Given the description of an element on the screen output the (x, y) to click on. 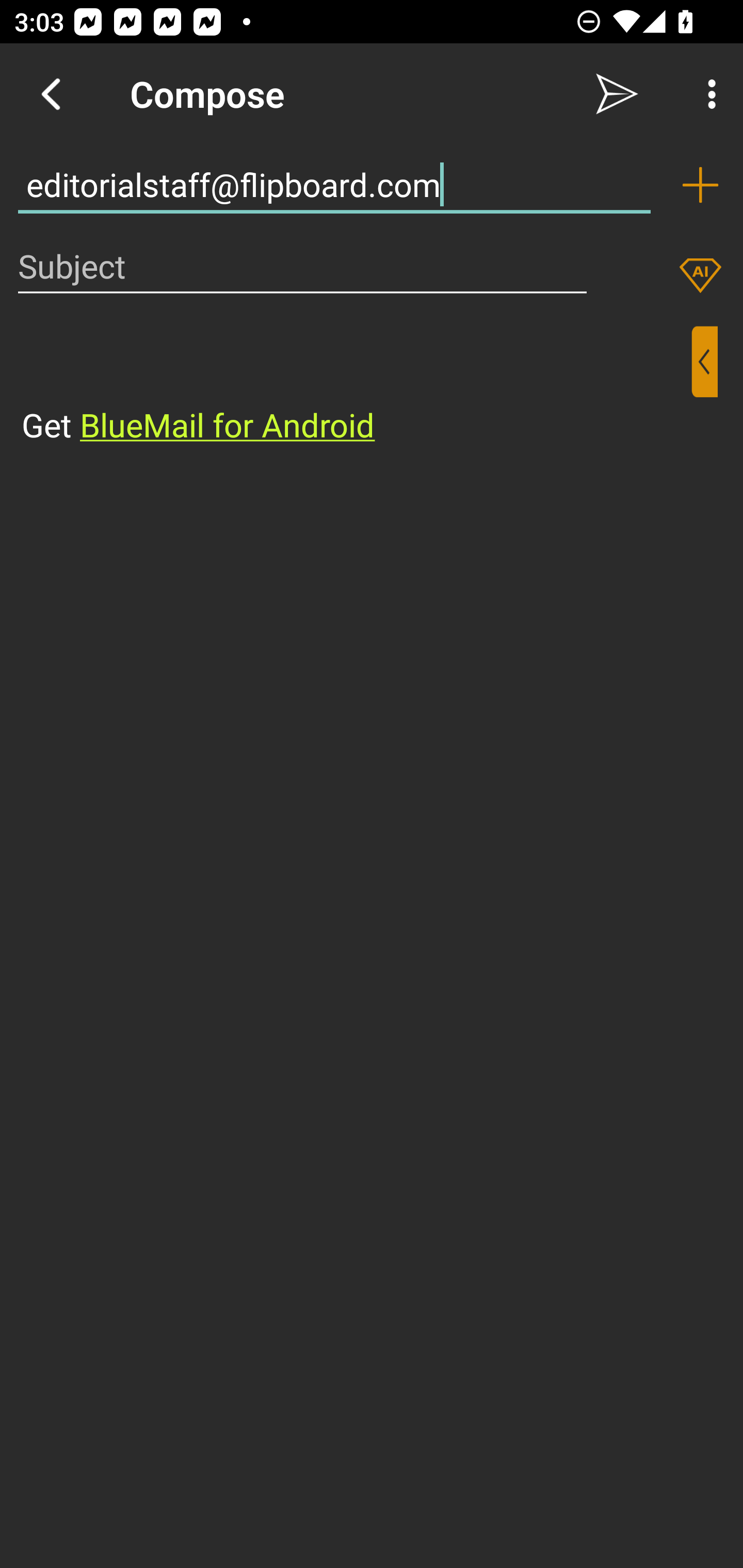
Navigate up (50, 93)
Send (616, 93)
More Options (706, 93)
 editorialstaff@flipboard.com (334, 184)
Add recipient (To) (699, 184)
Subject (302, 266)


⁣Get BlueMail for Android ​ (355, 386)
